Given the description of an element on the screen output the (x, y) to click on. 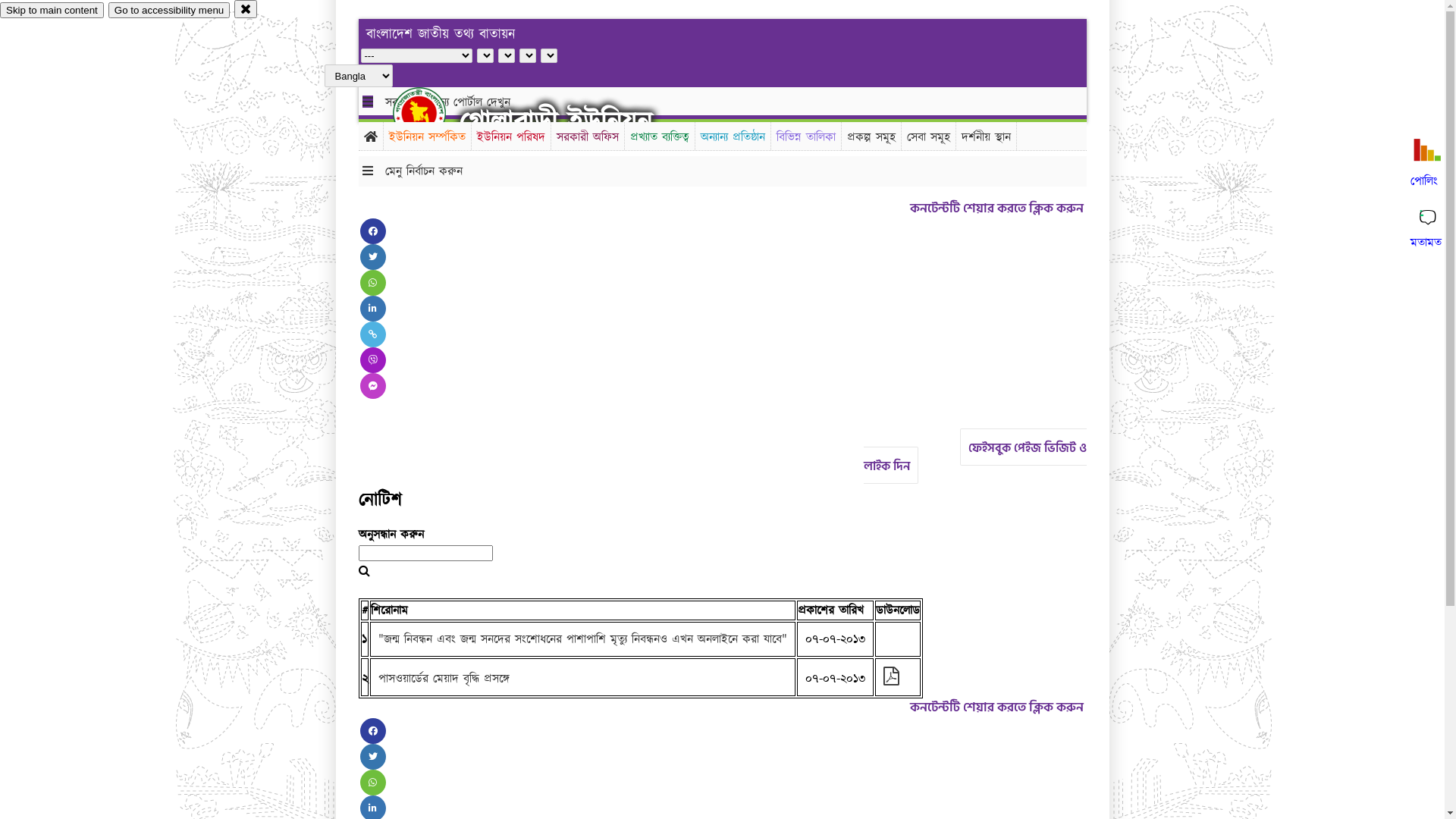
Go to accessibility menu Element type: text (168, 10)
Skip to main content Element type: text (51, 10)
password_change_0.pdf Element type: hover (890, 678)
close Element type: hover (245, 9)

                
             Element type: hover (431, 112)
